Given the description of an element on the screen output the (x, y) to click on. 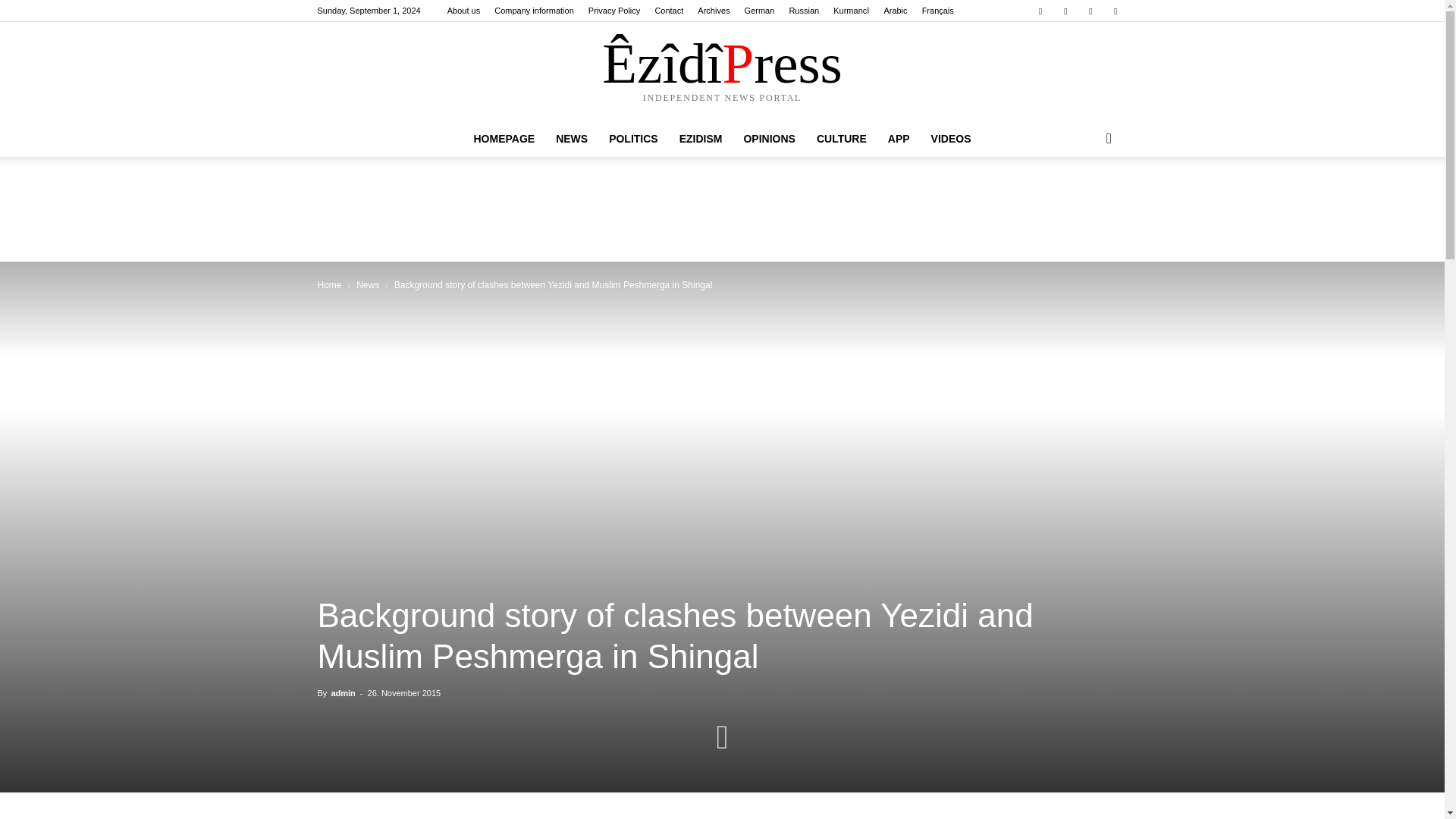
Company information (534, 10)
HOMEPAGE (503, 138)
Twitter (1065, 10)
German (759, 10)
About us (463, 10)
Arabic (895, 10)
Russian (803, 10)
Contact (667, 10)
Facebook (1040, 10)
Privacy Policy (614, 10)
